Given the description of an element on the screen output the (x, y) to click on. 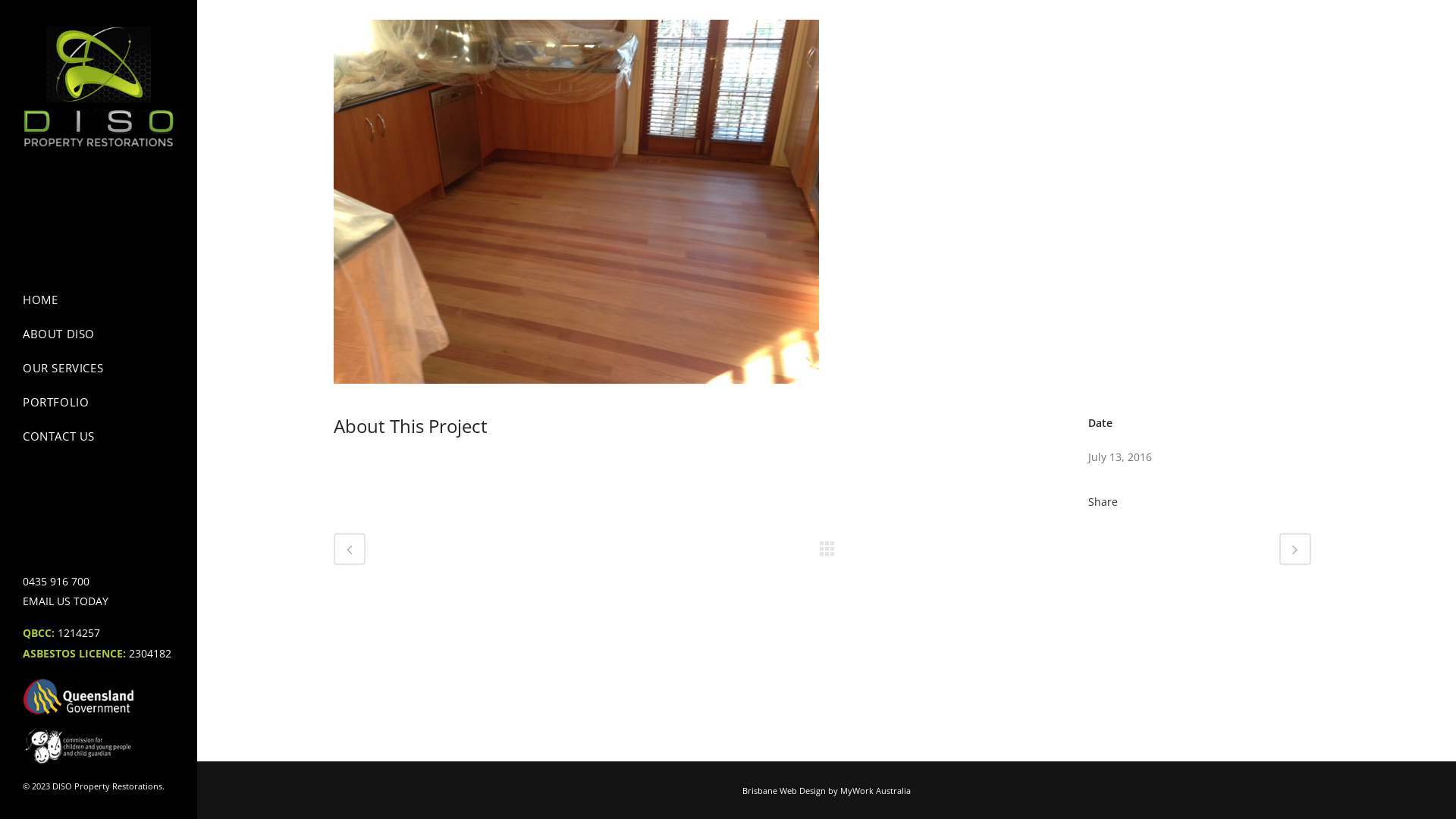
ABOUT DISO Element type: text (98, 333)
Brisbane Web Design Element type: text (783, 790)
CONTACT US Element type: text (98, 435)
Share Element type: text (1102, 501)
0435 916 700 Element type: text (55, 581)
EMAIL US TODAY Element type: text (65, 600)
Camp Hill Qld 5 Element type: hover (576, 392)
OUR SERVICES Element type: text (98, 367)
PORTFOLIO Element type: text (98, 402)
HOME Element type: text (98, 299)
